Given the description of an element on the screen output the (x, y) to click on. 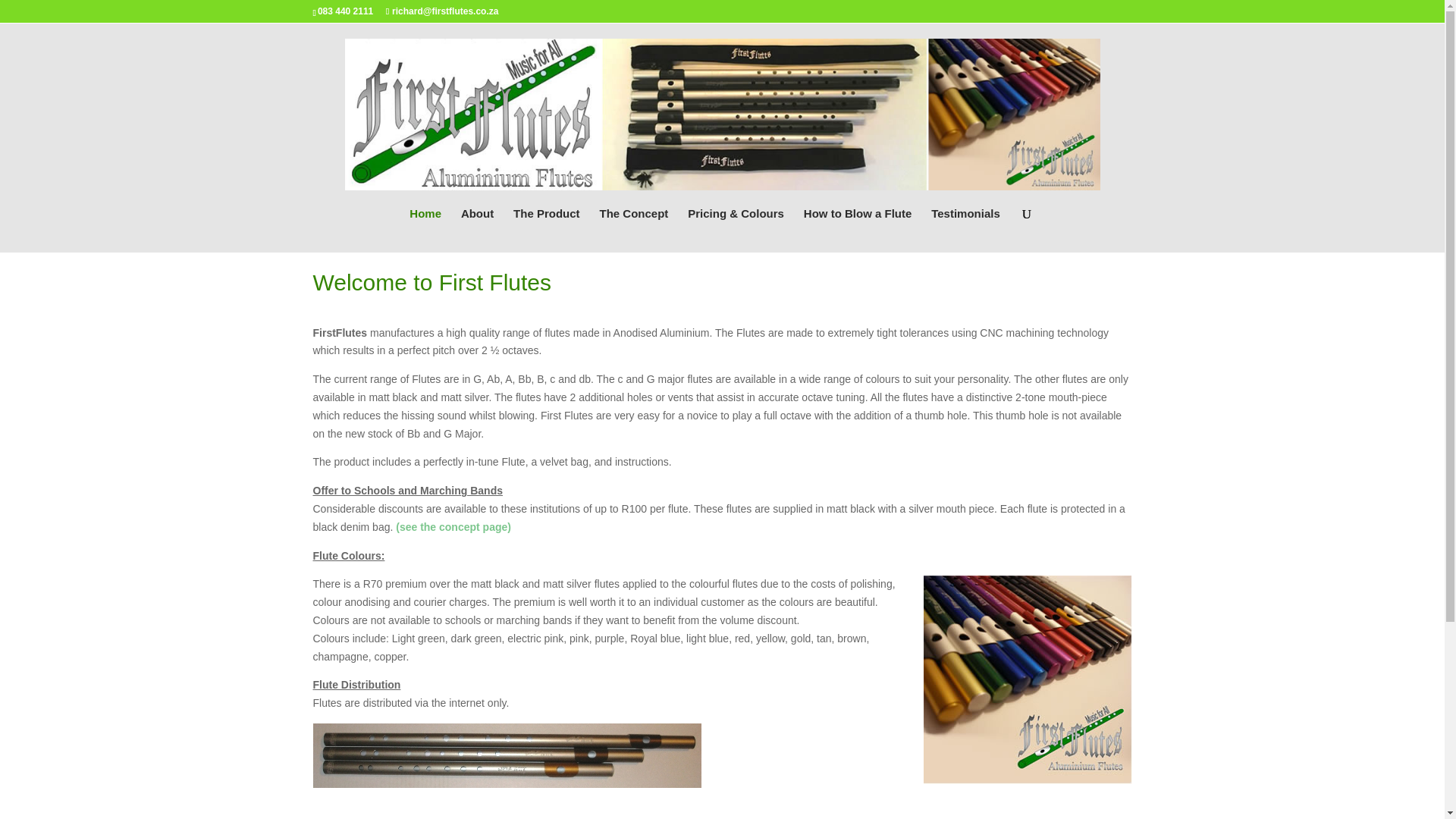
How to Blow a Flute (857, 229)
The Product (546, 229)
The Concept (633, 229)
Testimonials (965, 229)
